Given the description of an element on the screen output the (x, y) to click on. 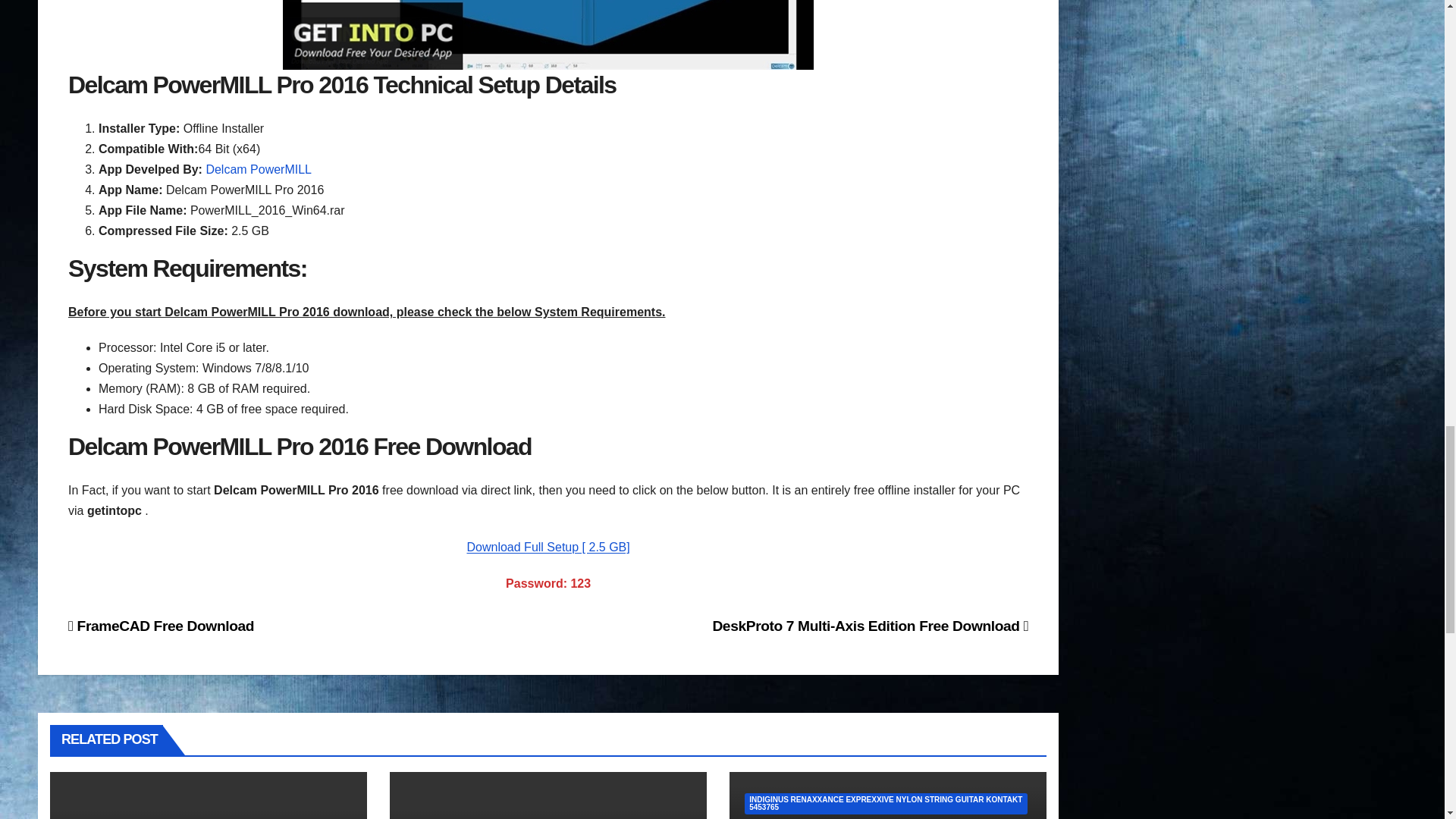
FrameCAD Free Download (160, 625)
DeskProto 7 Multi-Axis Edition Free Download (869, 625)
Delcam PowerMILL (258, 169)
